Given the description of an element on the screen output the (x, y) to click on. 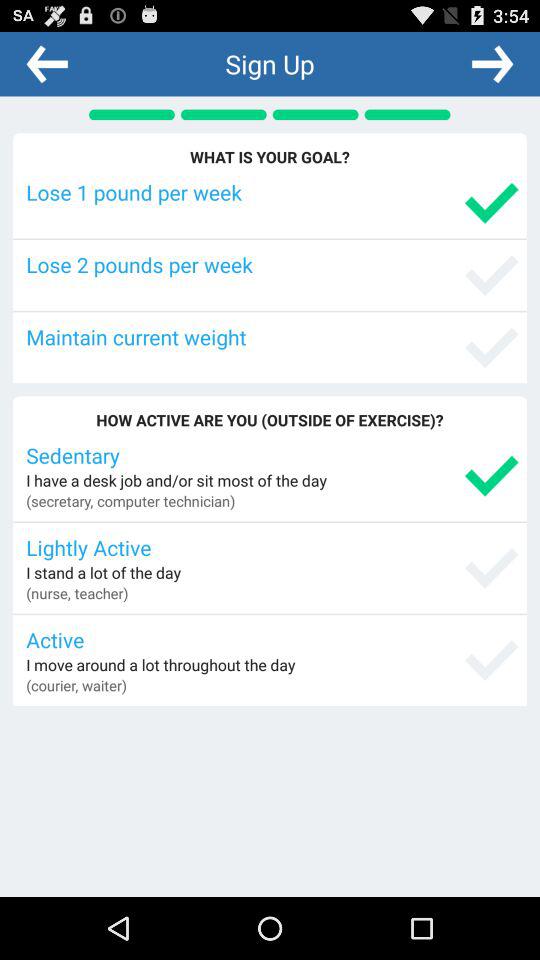
launch the icon to the left of the sign up app (47, 63)
